Given the description of an element on the screen output the (x, y) to click on. 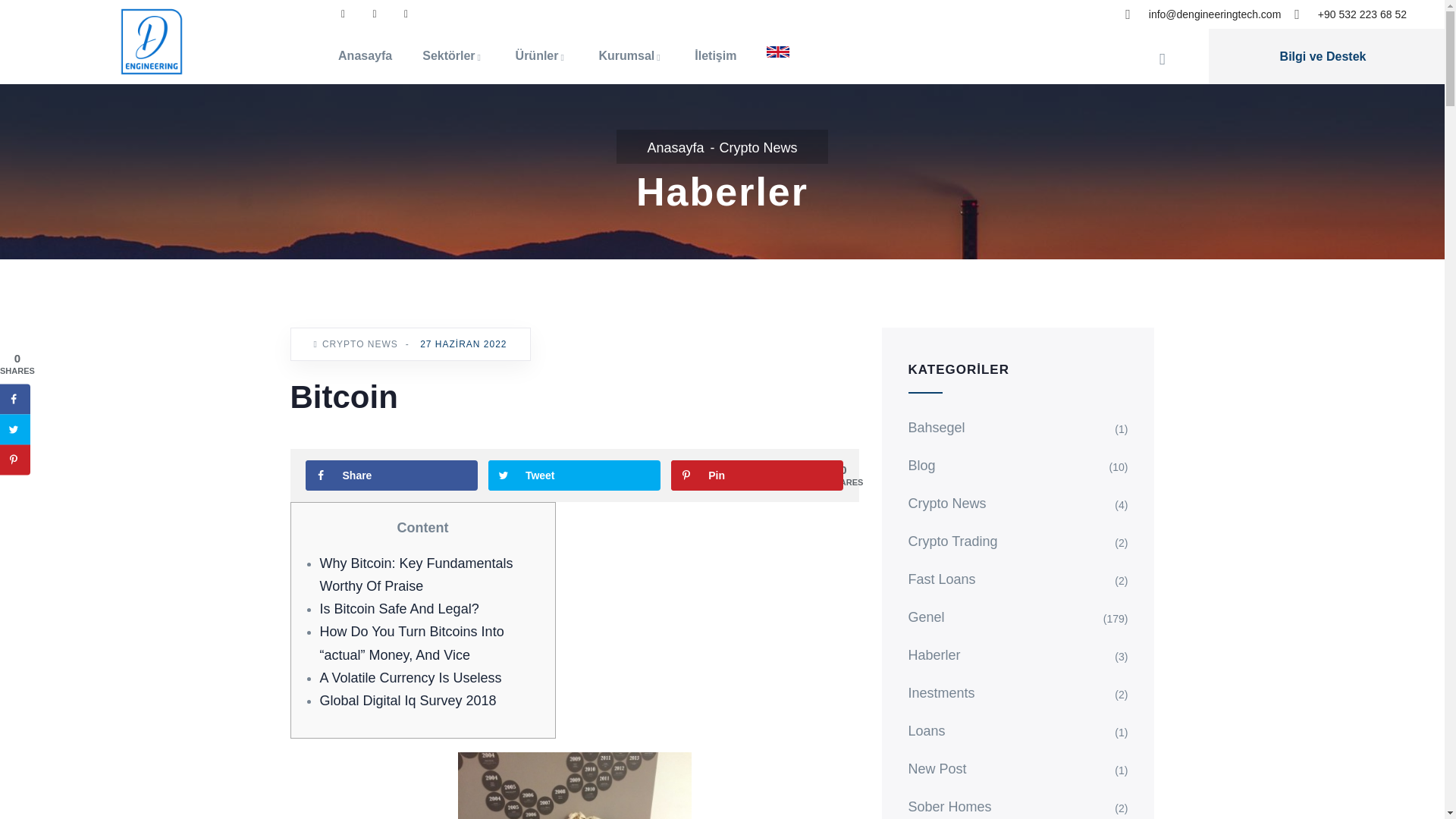
Save to Pinterest (15, 459)
EN (778, 51)
Share on Facebook (15, 399)
Share on Facebook (390, 475)
Save to Pinterest (757, 475)
Share on Twitter (574, 475)
Share on Twitter (15, 429)
Home (151, 41)
